Given the description of an element on the screen output the (x, y) to click on. 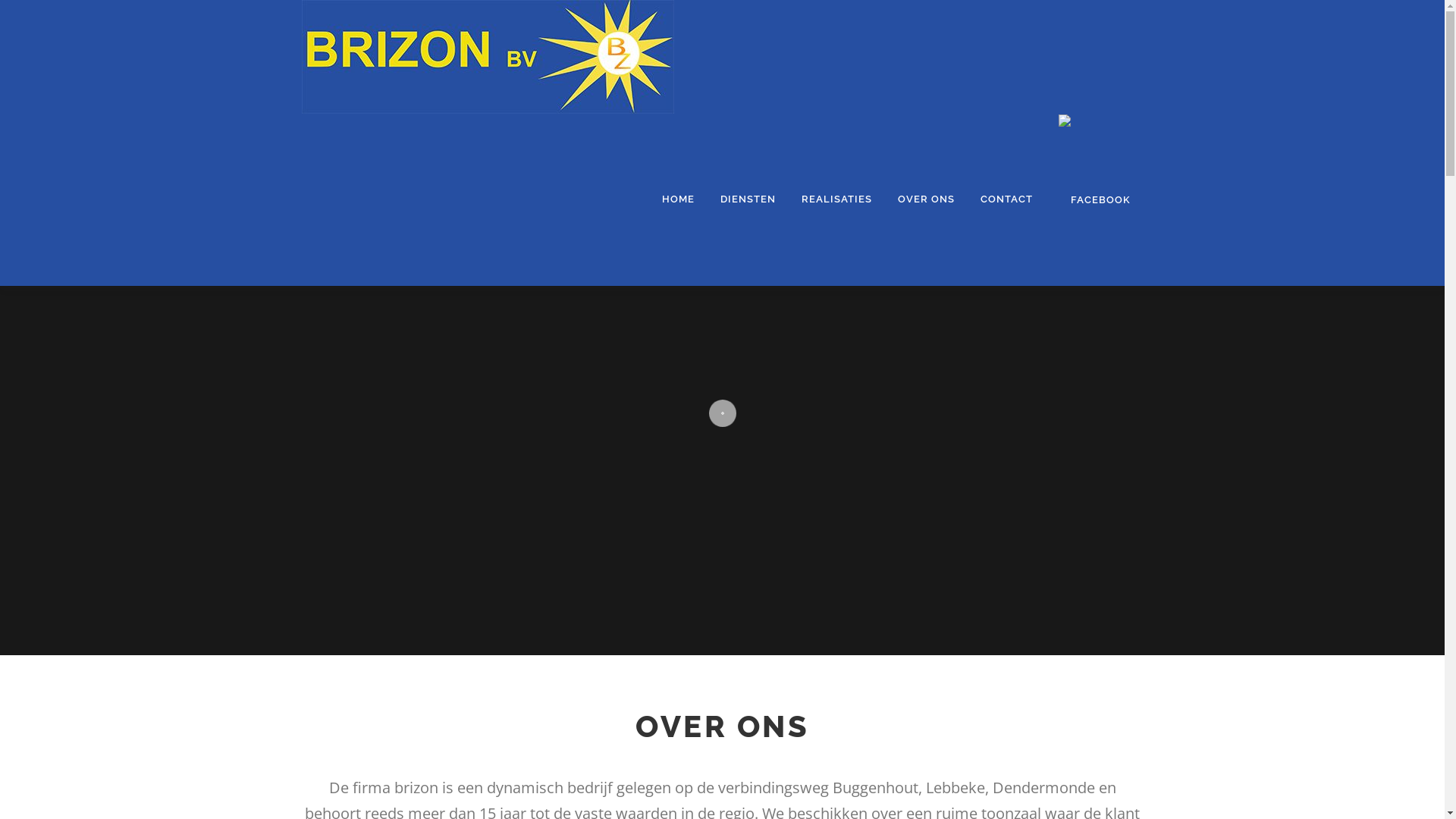
HOME Element type: text (678, 199)
OVER ONS Element type: text (925, 199)
CONTACT Element type: text (1006, 199)
REALISATIES Element type: text (836, 199)
DIENSTEN Element type: text (746, 199)
